Given the description of an element on the screen output the (x, y) to click on. 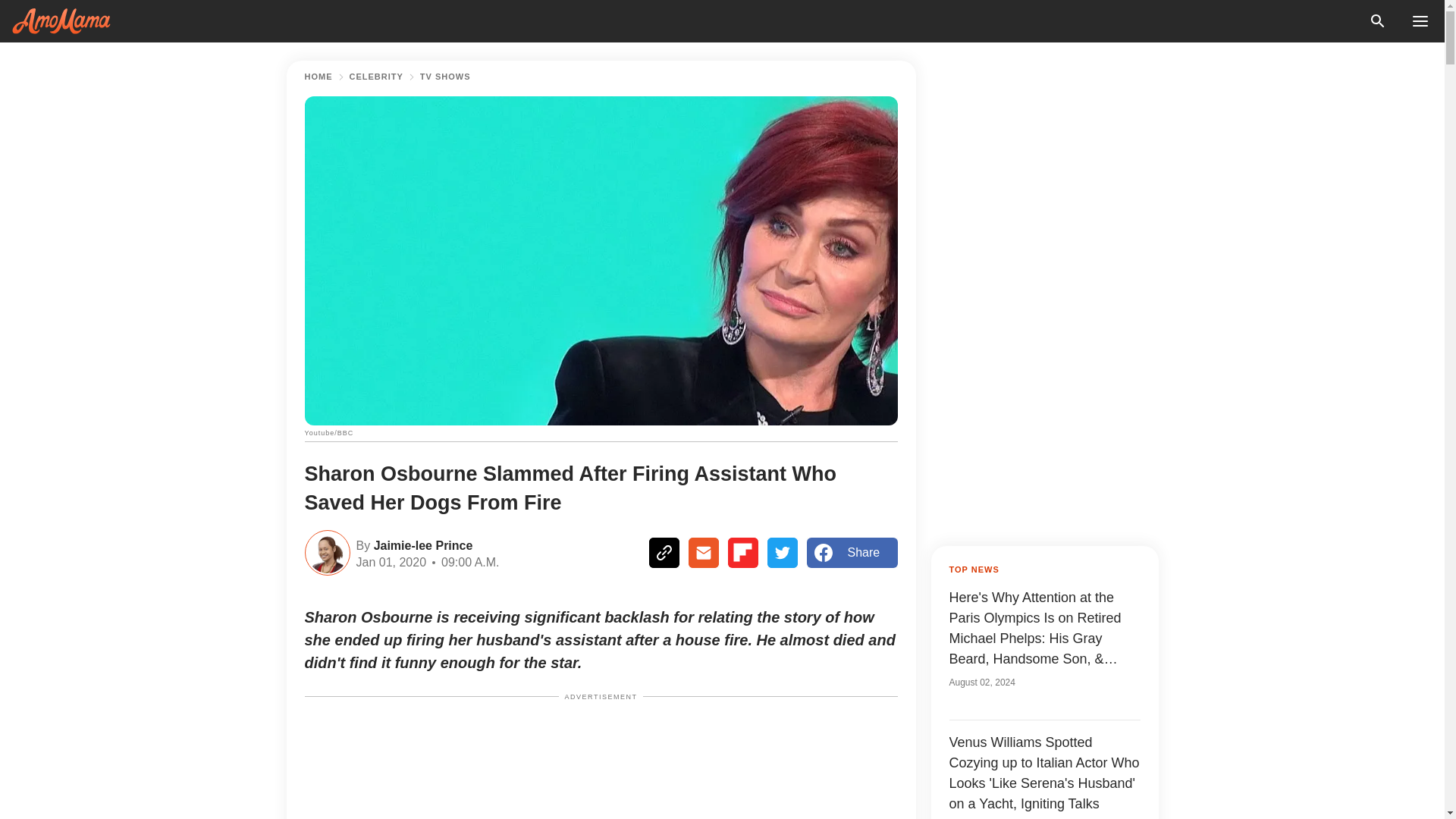
Jaimie-lee Prince (420, 544)
TV SHOWS (445, 76)
CELEBRITY (376, 76)
HOME (318, 76)
